Given the description of an element on the screen output the (x, y) to click on. 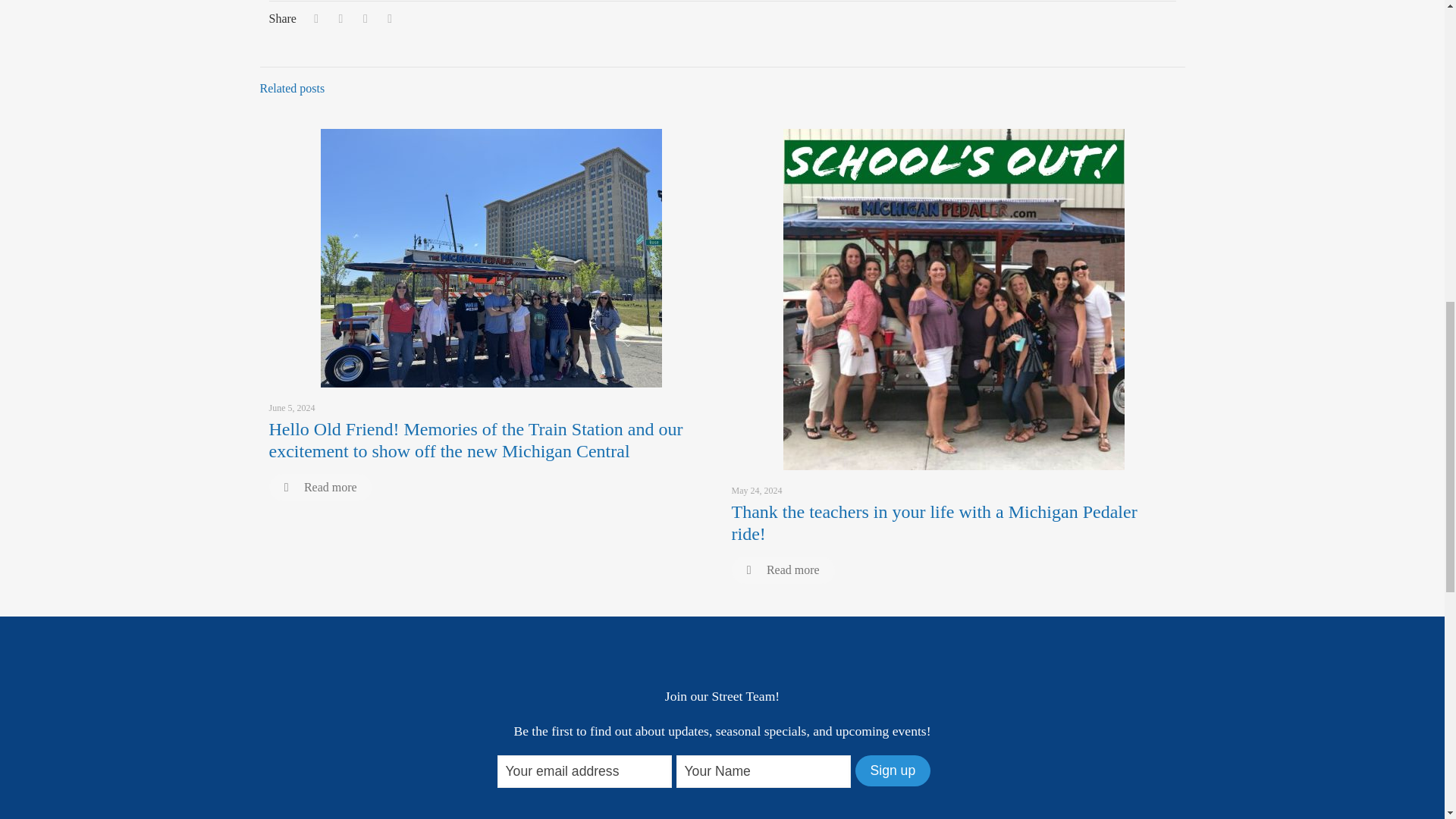
Sign up (893, 770)
